Given the description of an element on the screen output the (x, y) to click on. 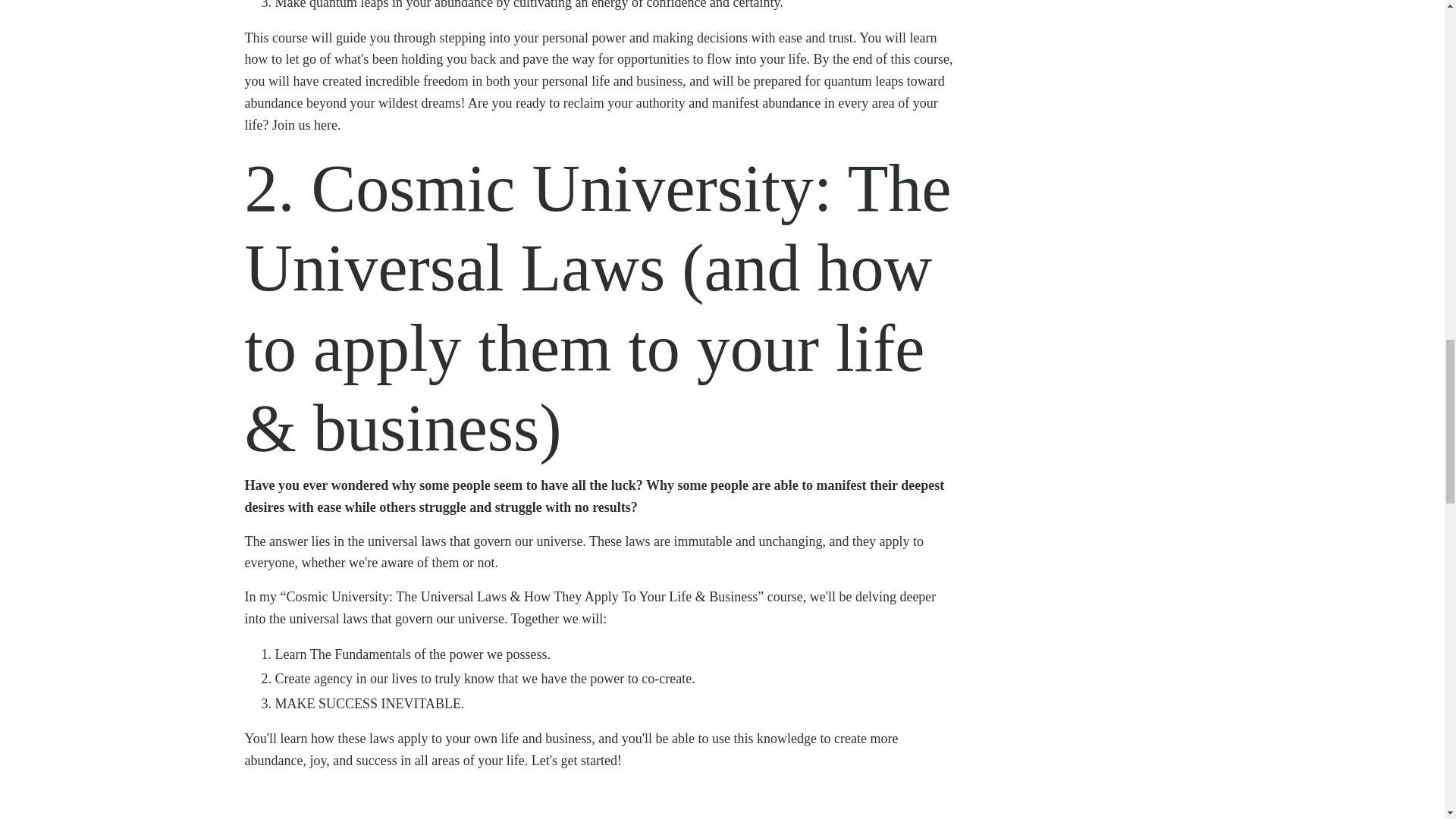
Let's get started! (576, 760)
Join us here. (306, 124)
course (289, 37)
